Given the description of an element on the screen output the (x, y) to click on. 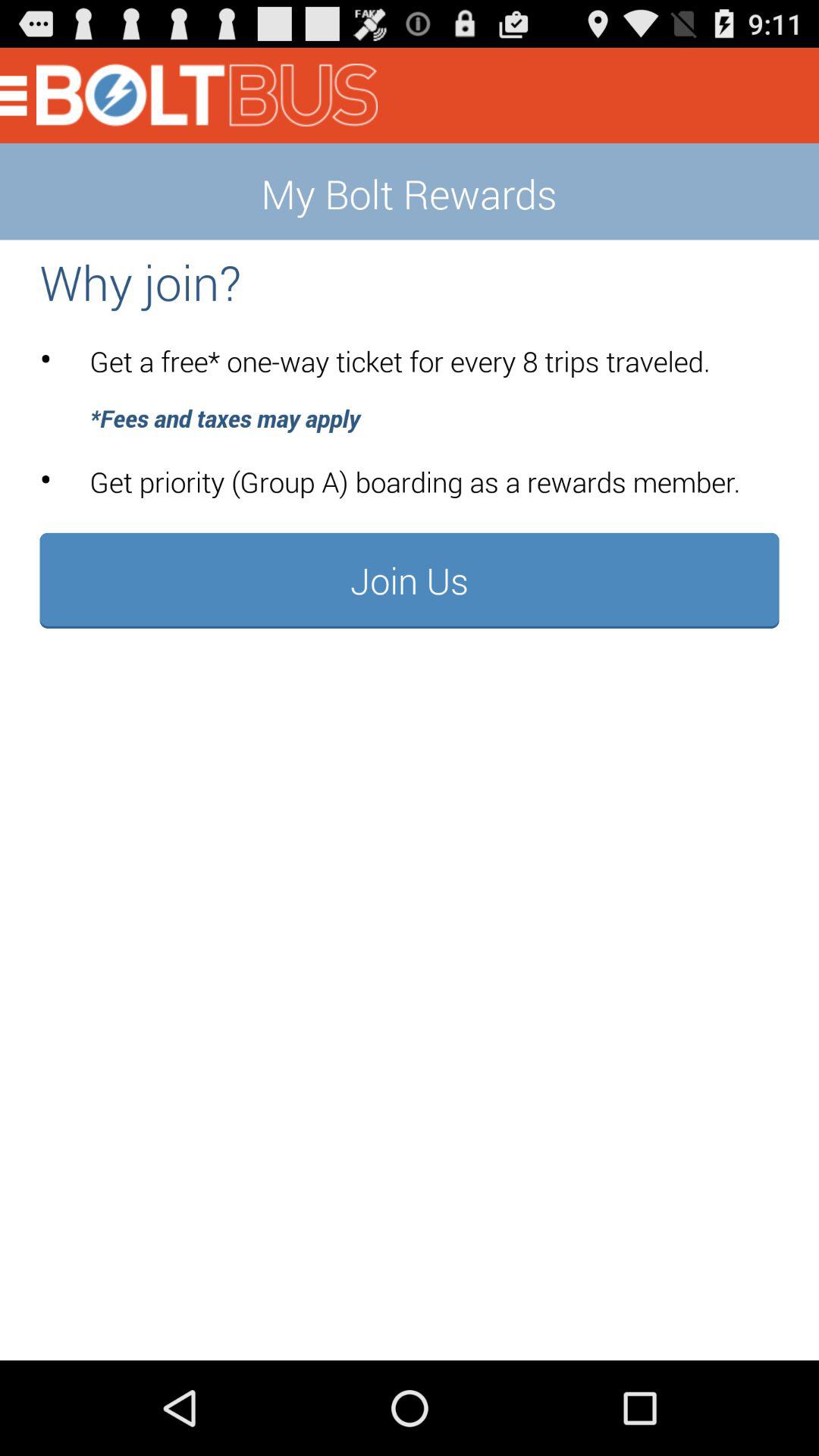
jump to join us icon (409, 580)
